Given the description of an element on the screen output the (x, y) to click on. 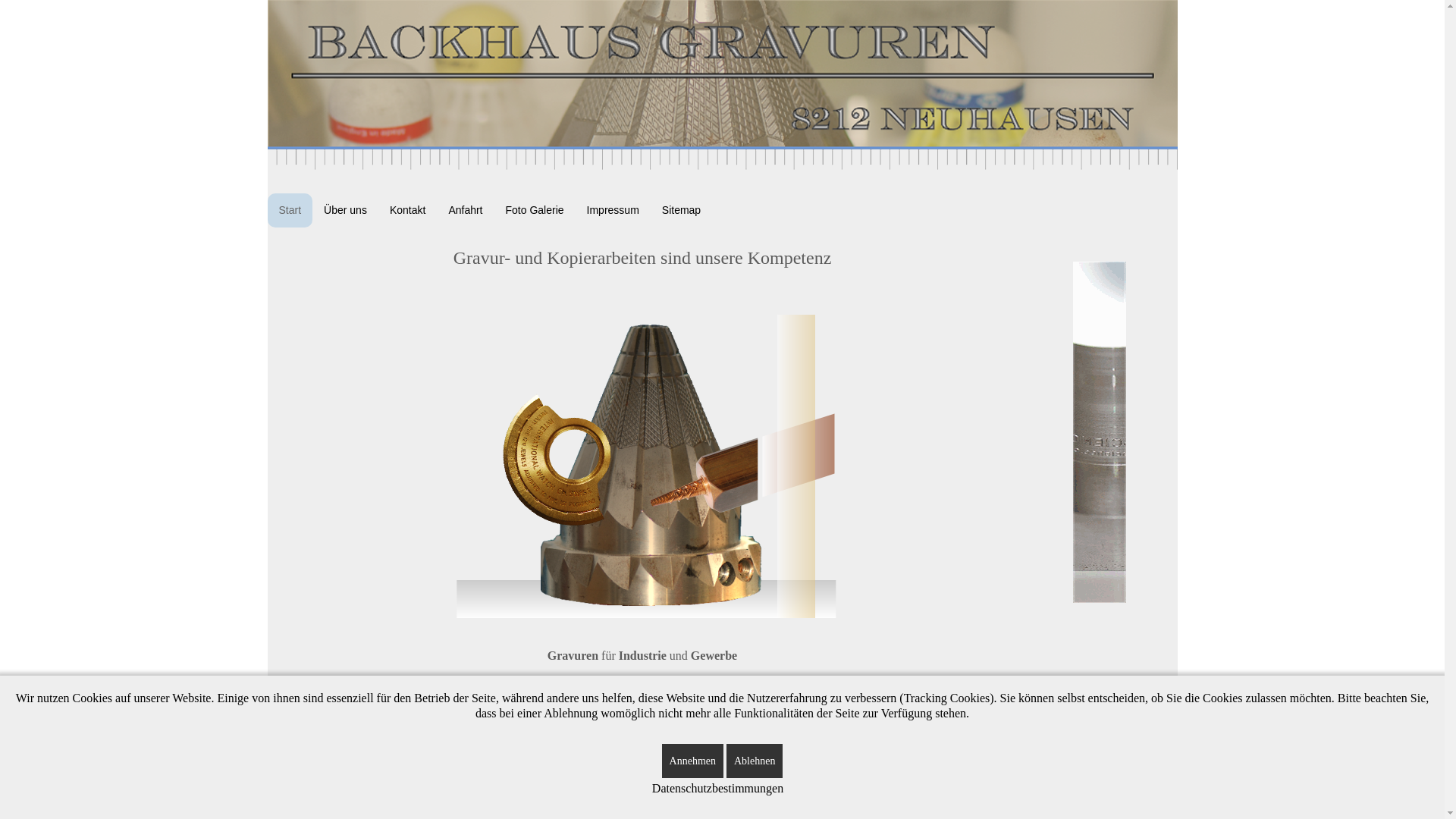
Sitemap Element type: text (681, 210)
Start Element type: text (289, 210)
Foto Galerie Element type: text (534, 210)
archiba Element type: text (815, 758)
Ablehnen Element type: text (754, 760)
Datenschutzbestimmungen Element type: text (717, 788)
Kontakt Element type: text (407, 210)
Impressum Element type: text (612, 210)
Annehmen Element type: text (692, 760)
Anfahrt Element type: text (464, 210)
